Given the description of an element on the screen output the (x, y) to click on. 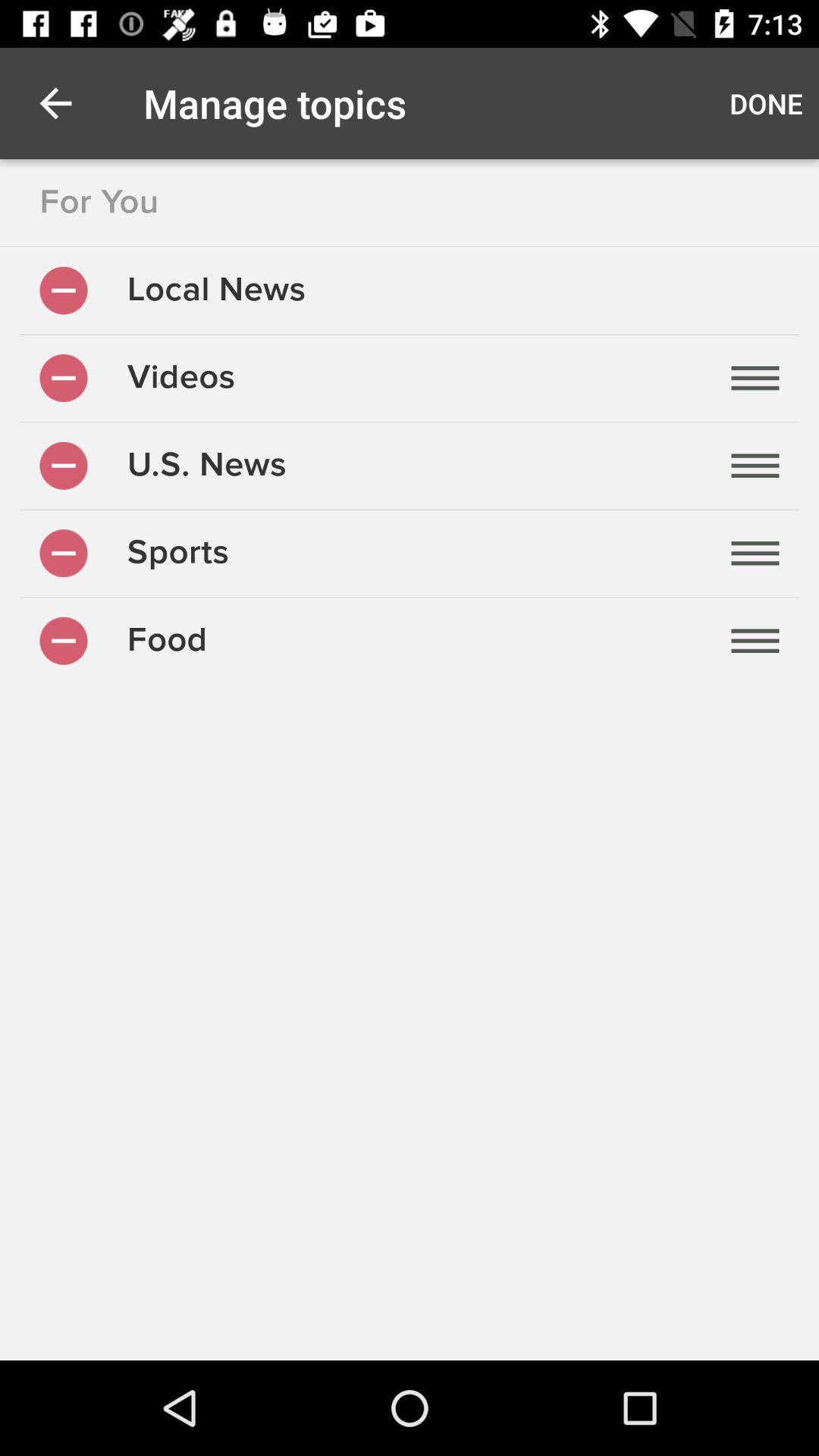
click the icon to the left of manage topics (55, 103)
